Given the description of an element on the screen output the (x, y) to click on. 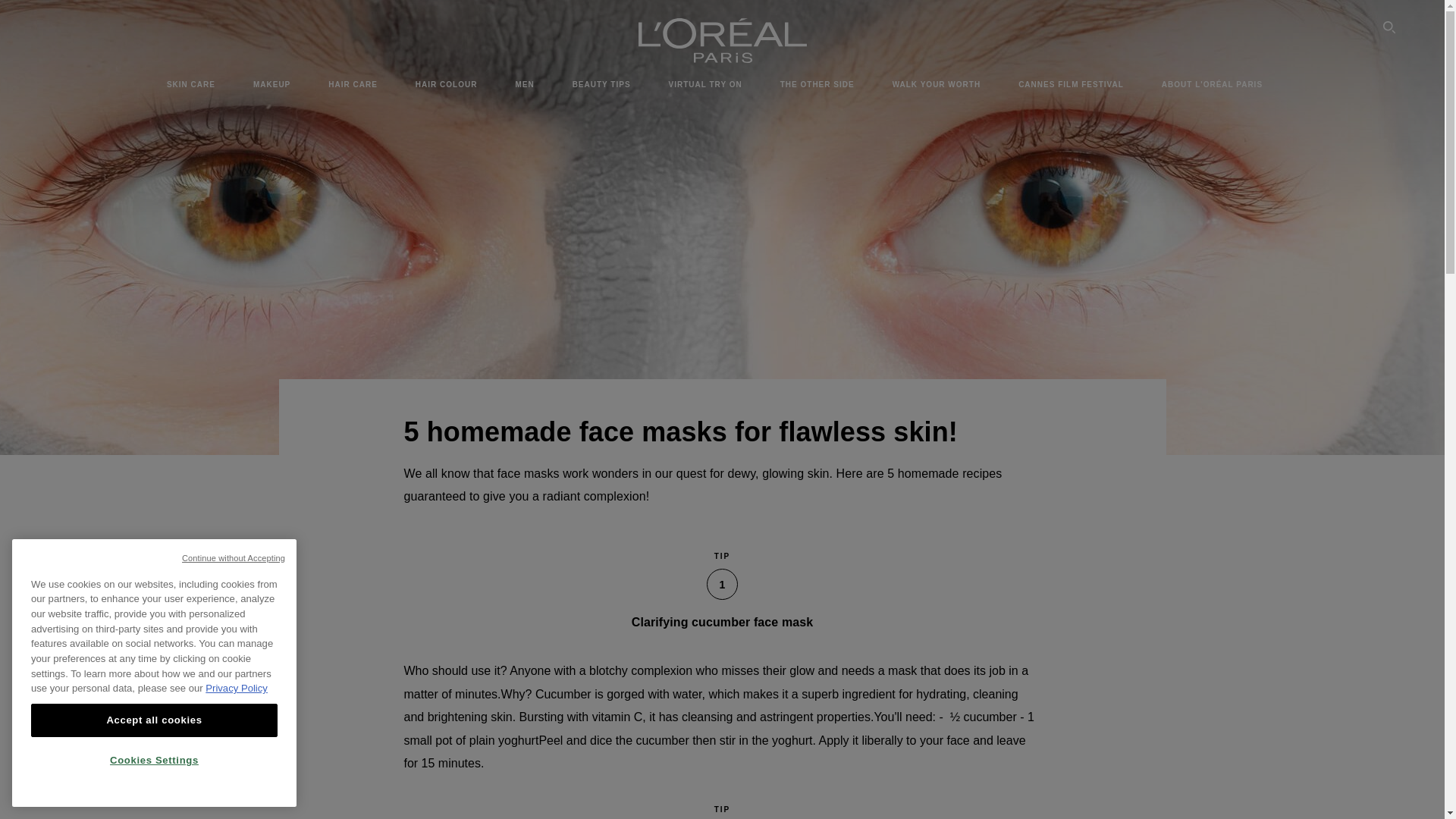
MAKEUP (271, 84)
SKIN CARE (191, 84)
